Given the description of an element on the screen output the (x, y) to click on. 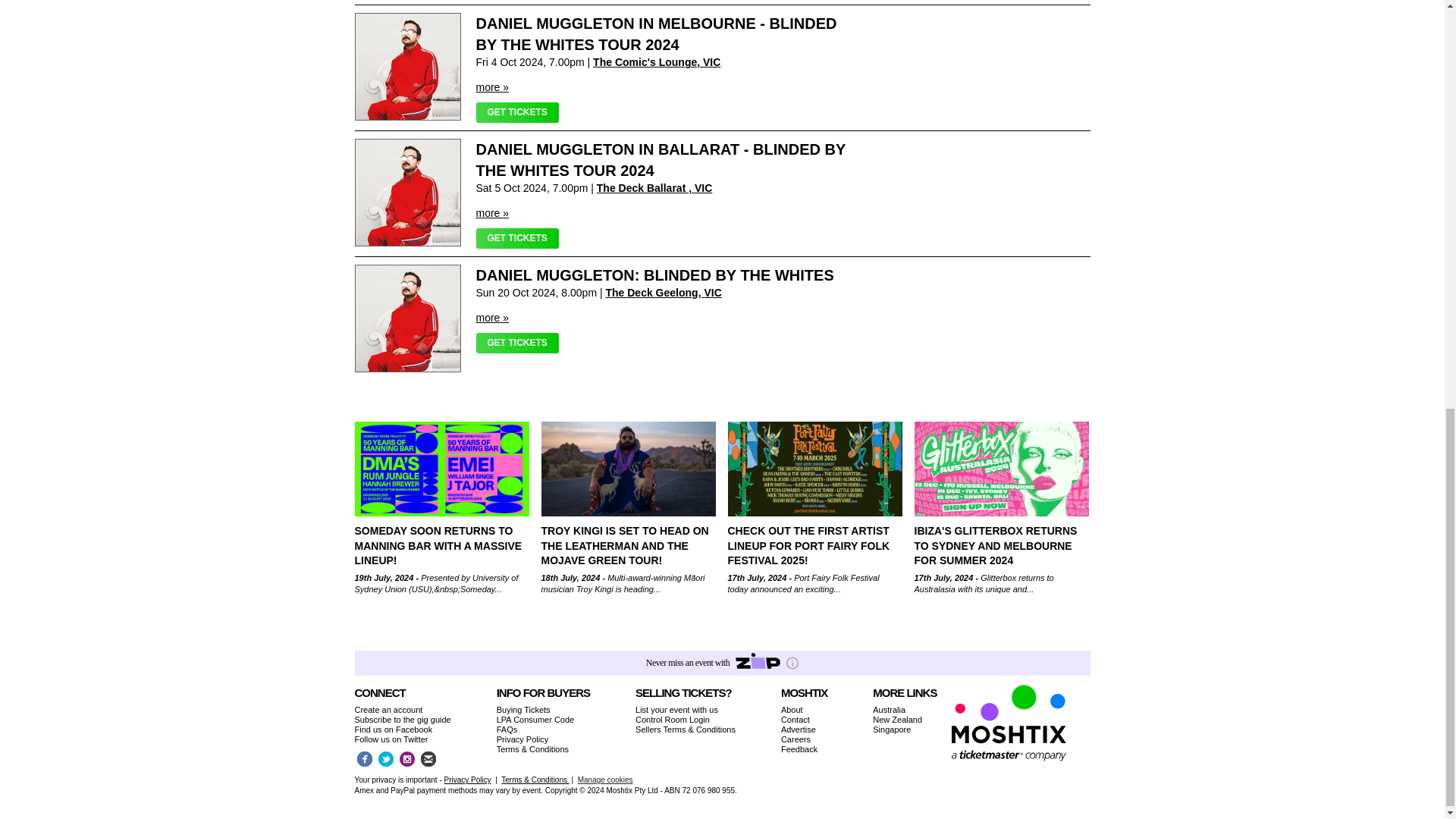
The Comic's Lounge, VIC (656, 61)
GET TICKETS (517, 238)
The Deck Ballarat , VIC (654, 187)
The Deck Geelong, VIC (662, 292)
DANIEL MUGGLETON: BLINDED BY THE WHITES (655, 274)
GET TICKETS (517, 342)
GET TICKETS (517, 112)
